Given the description of an element on the screen output the (x, y) to click on. 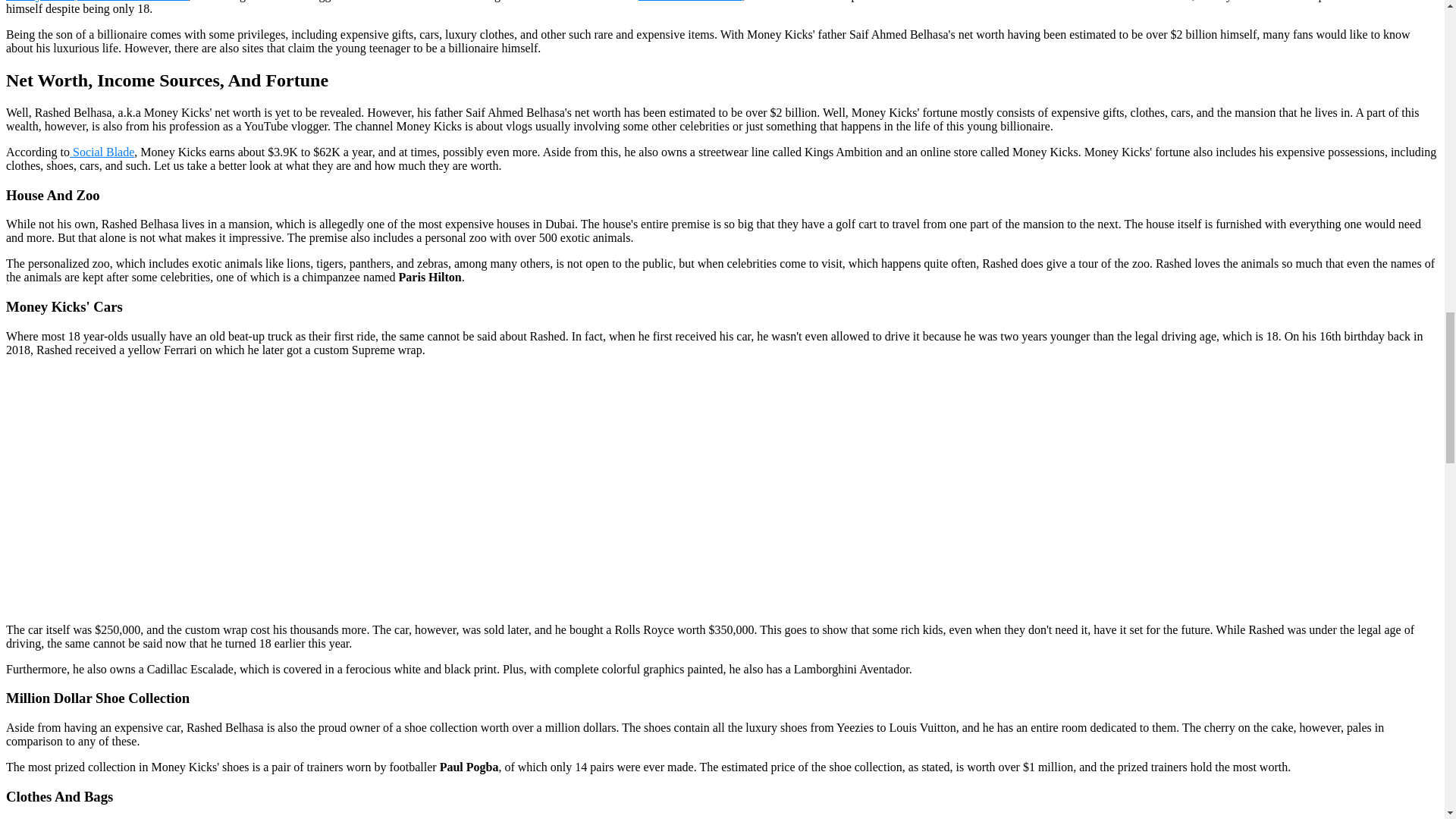
Money Kicks, a.k.a (55, 0)
Saif Ahmed Belhasa (690, 0)
Rashed Belhasa (146, 0)
Social Blade (101, 151)
